Given the description of an element on the screen output the (x, y) to click on. 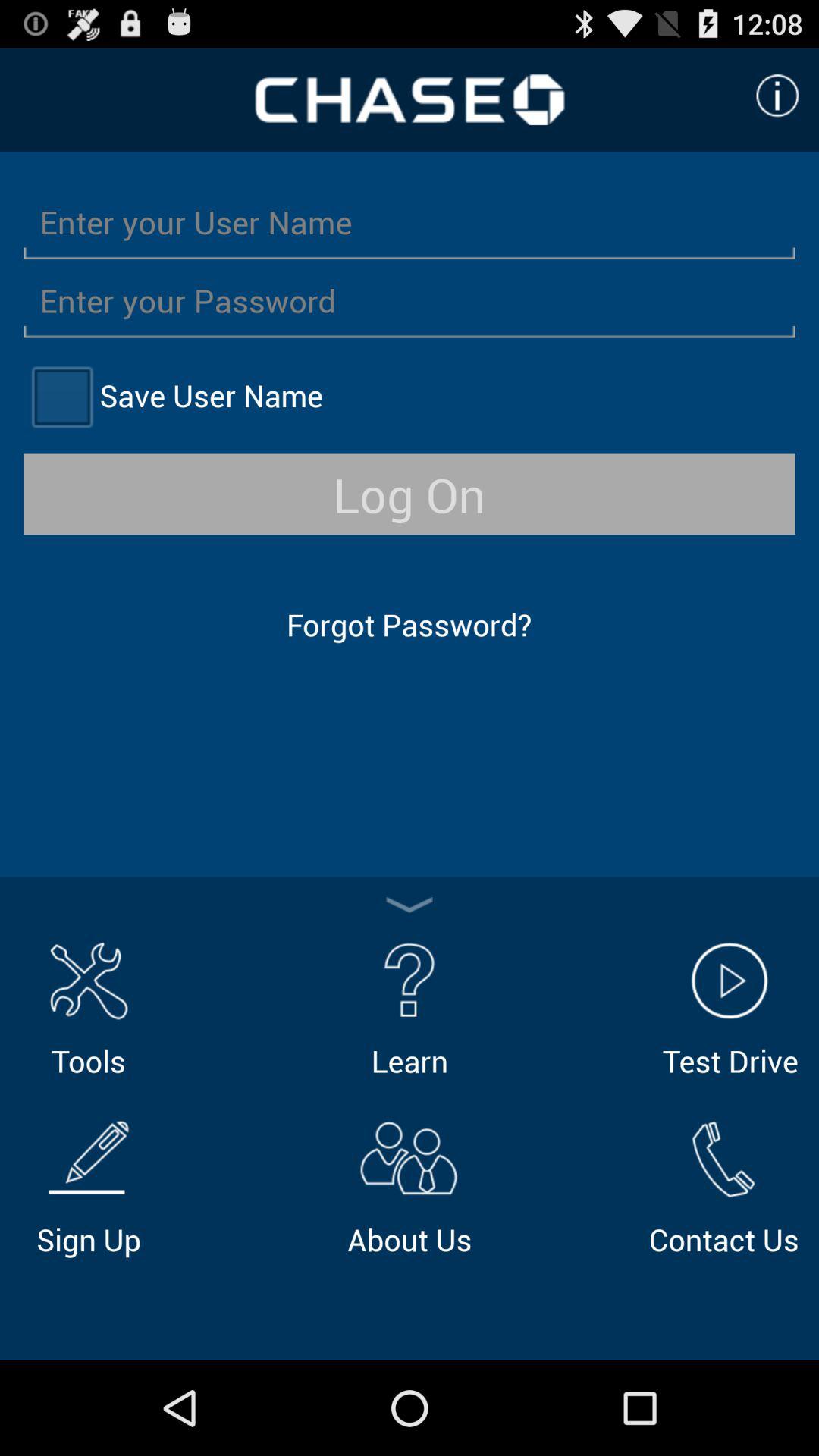
tap the item next to the test drive (409, 1006)
